Given the description of an element on the screen output the (x, y) to click on. 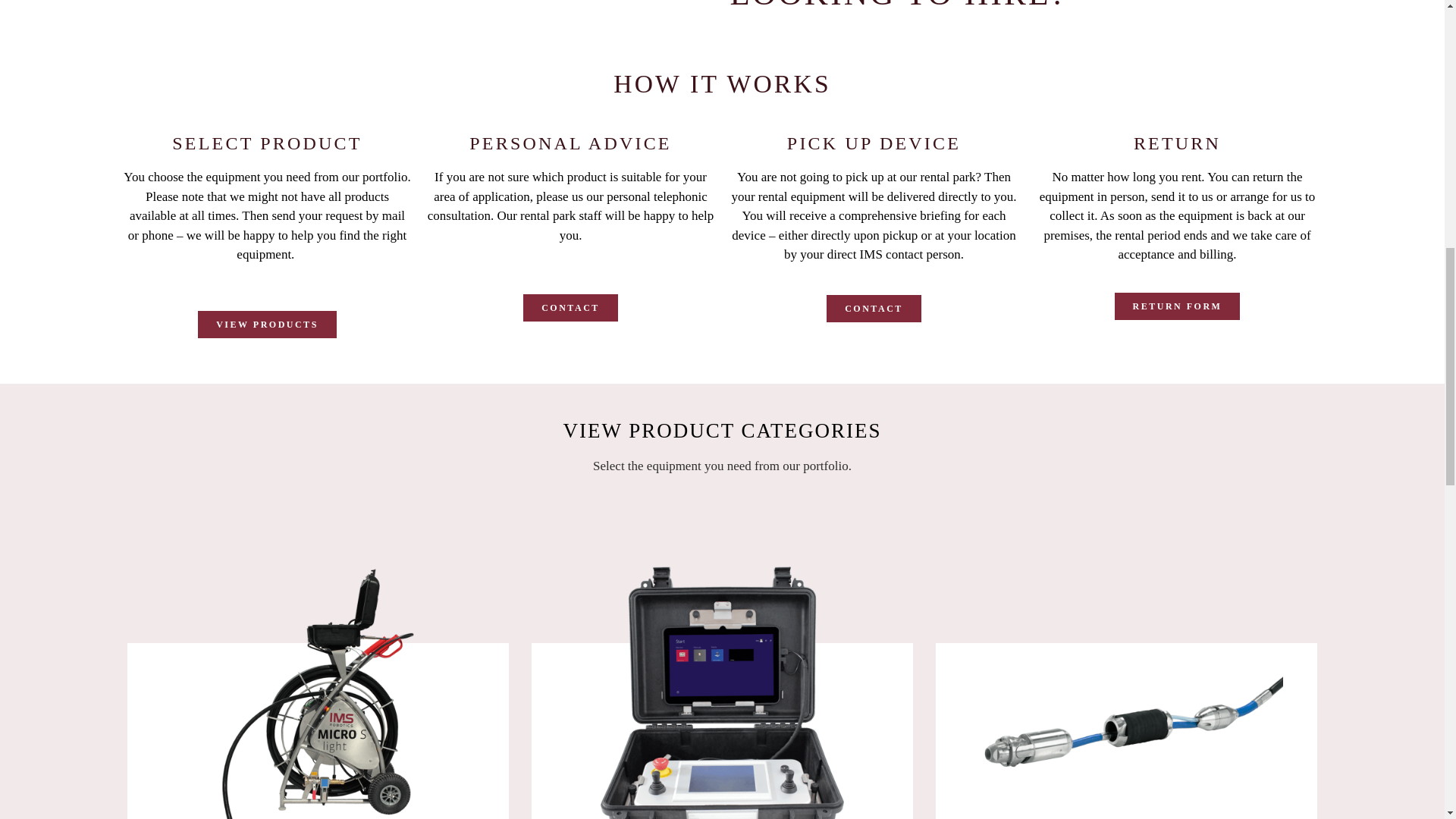
CONTACT (569, 307)
RETURN FORM (1177, 306)
VIEW PRODUCTS (267, 324)
CONTACT (874, 308)
